Given the description of an element on the screen output the (x, y) to click on. 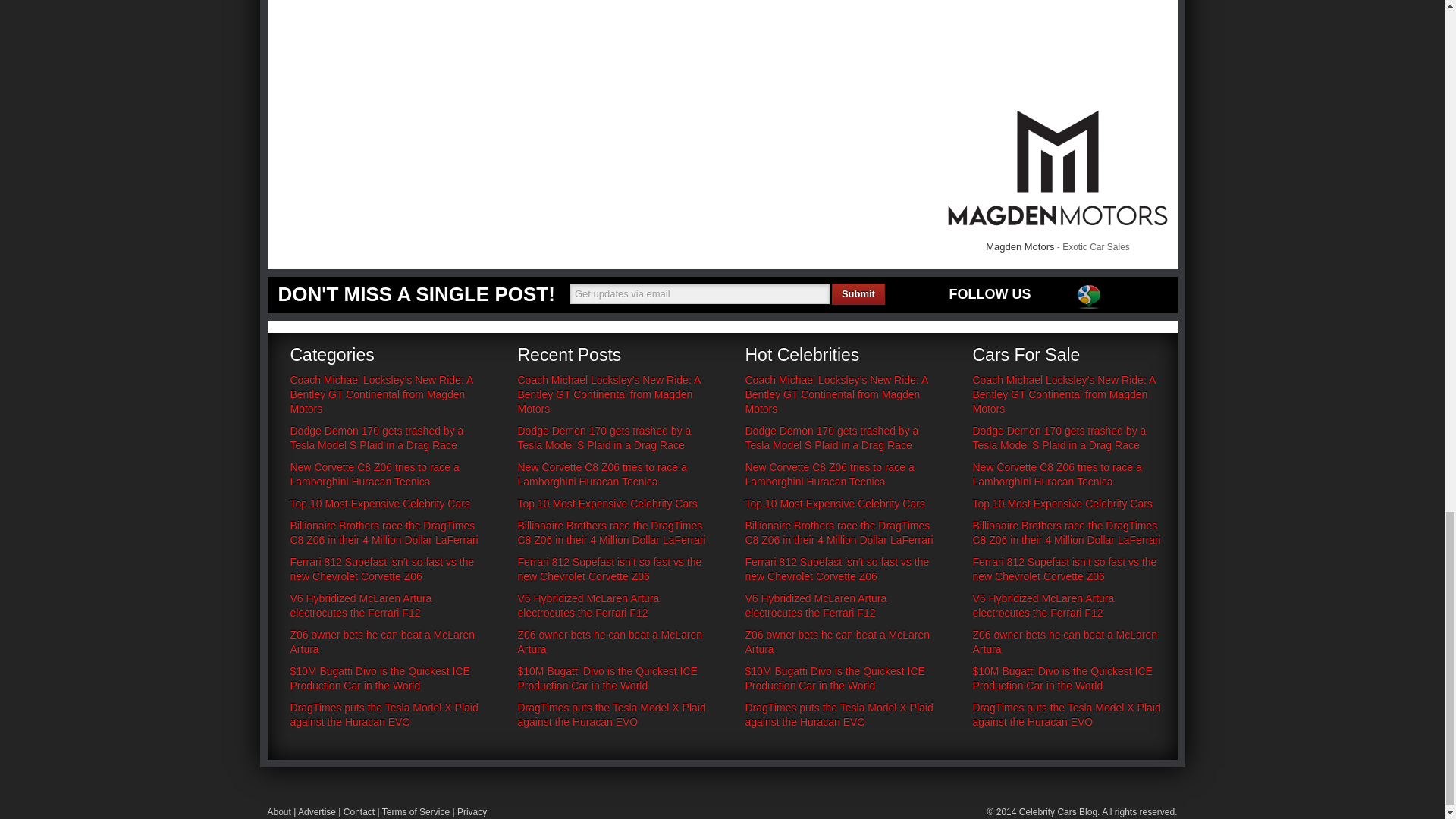
Submit (858, 293)
Get updates via email (699, 293)
